Given the description of an element on the screen output the (x, y) to click on. 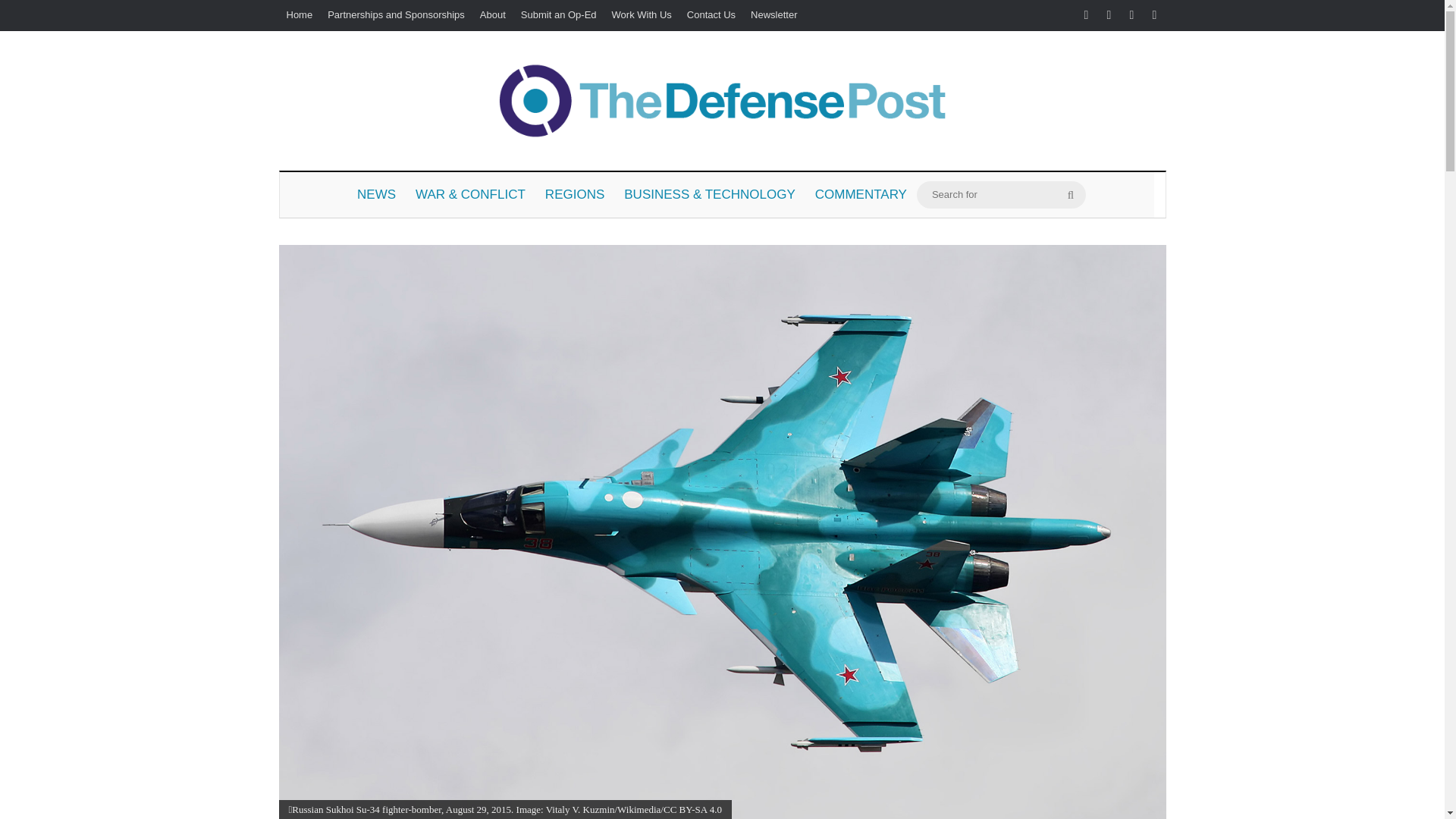
COMMENTARY (861, 194)
Submit an Op-Ed (558, 15)
Global defense news, analysis and opinion (722, 100)
Search for (1070, 194)
Partnerships and Sponsorships (395, 15)
REGIONS (574, 194)
NEWS (376, 194)
Work With Us (641, 15)
About (492, 15)
Contact Us (710, 15)
Home (299, 15)
Search for (1001, 194)
Newsletter (773, 15)
